Given the description of an element on the screen output the (x, y) to click on. 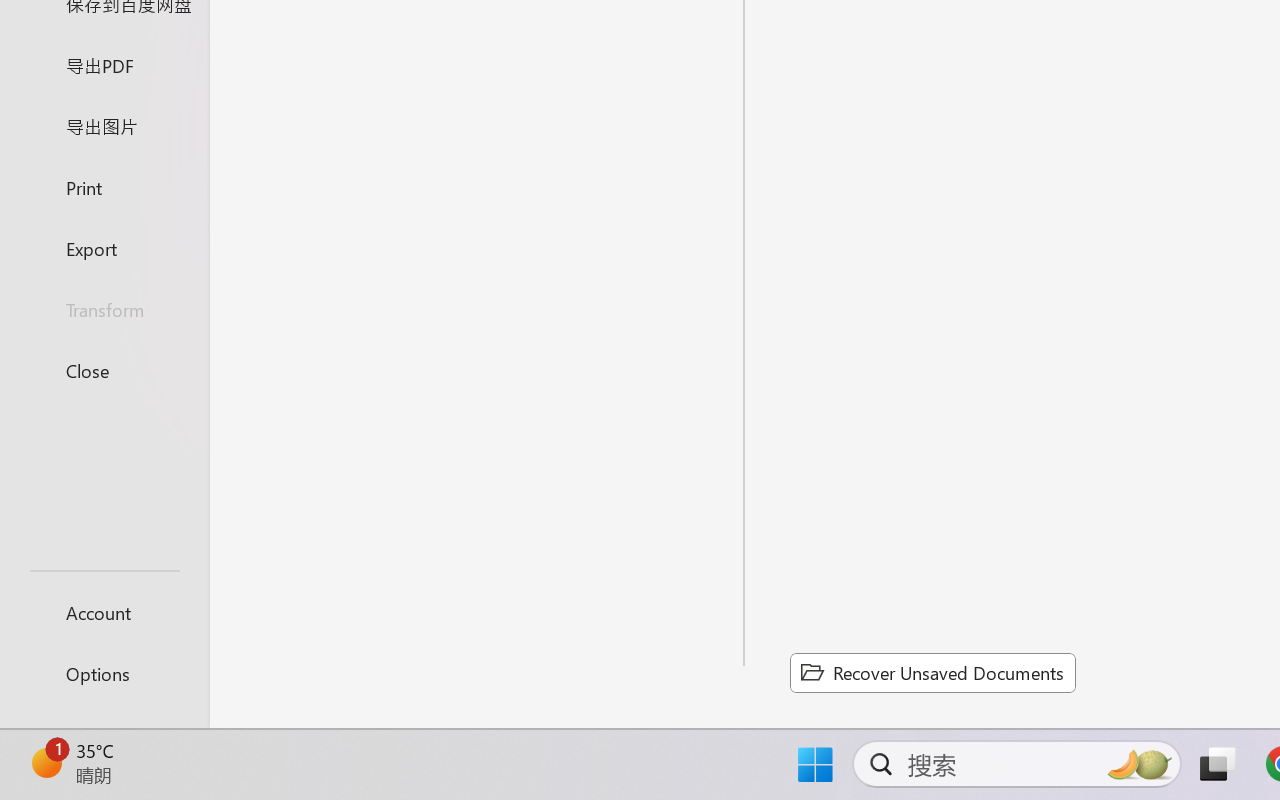
Recover Unsaved Documents (932, 672)
Options (104, 673)
Transform (104, 309)
Account (104, 612)
Export (104, 248)
Print (104, 186)
